Given the description of an element on the screen output the (x, y) to click on. 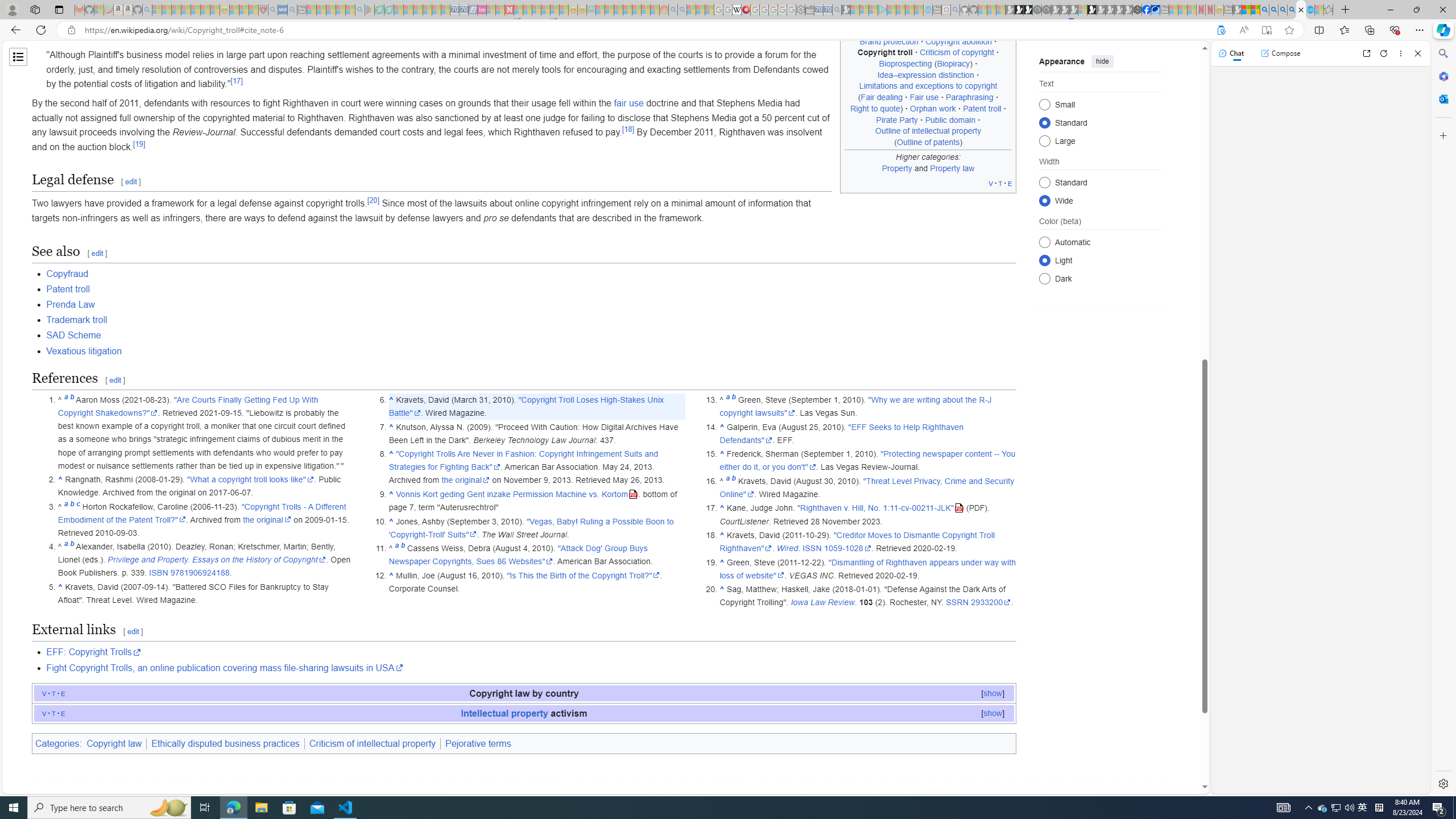
SSRN (957, 602)
Wide (1044, 200)
EFF: Copyright Trolls (531, 652)
Microsoft account | Privacy - Sleeping (872, 9)
"Copyright Troll Loses High-Stakes Unix Battle" (525, 406)
Cheap Car Rentals - Save70.com - Sleeping (827, 9)
[19] (138, 143)
